Given the description of an element on the screen output the (x, y) to click on. 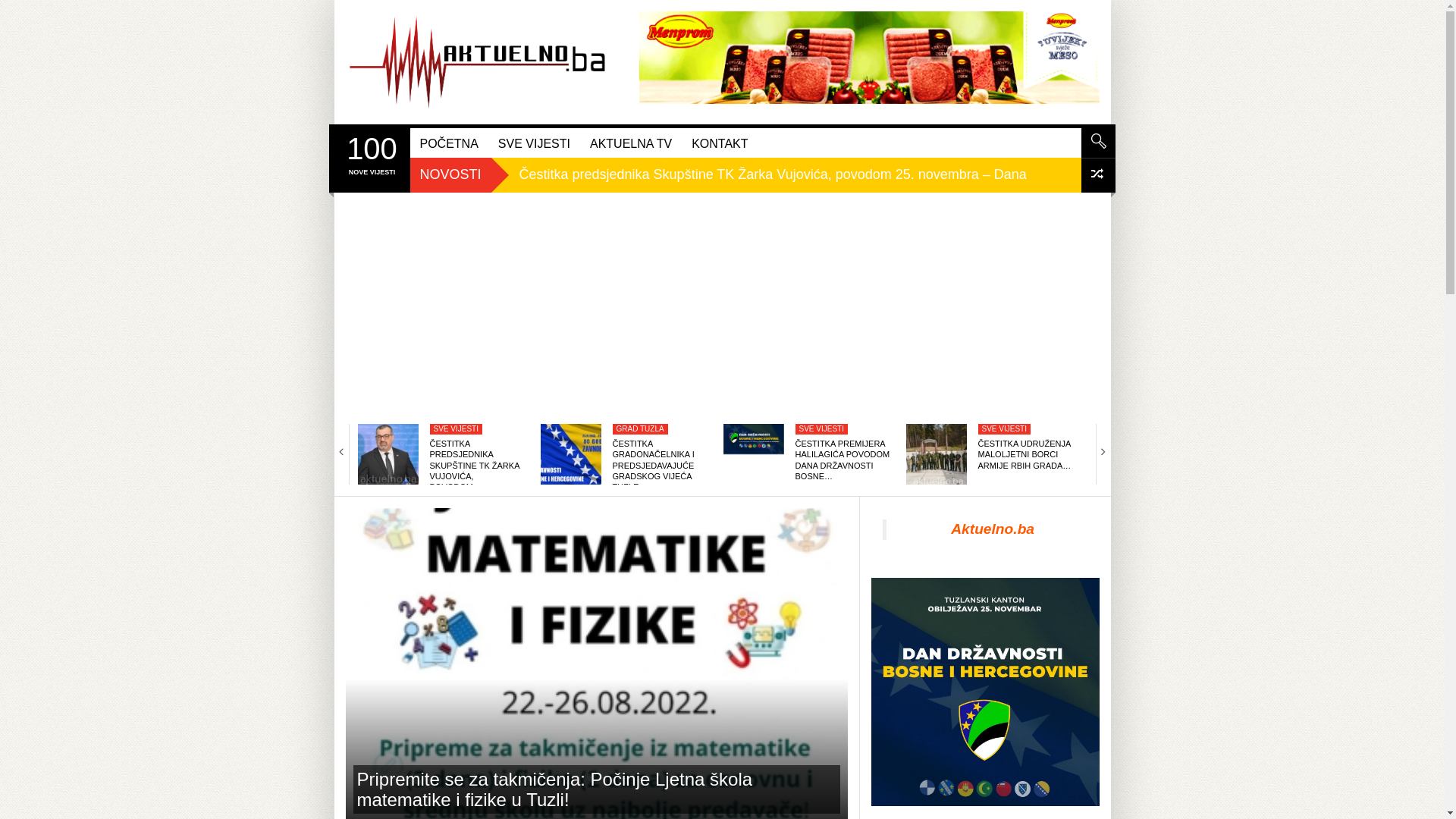
NOVOSTI Element type: text (450, 174)
Aktuelno.ba Element type: hover (477, 61)
100
NOVE VIJESTI Element type: text (371, 153)
SVE VIJESTI Element type: text (455, 428)
KONTAKT Element type: text (719, 142)
SVE VIJESTI Element type: text (1003, 428)
Advertisement Element type: hover (721, 306)
AKTUELNA TV Element type: text (630, 142)
Aktuelno.ba Element type: text (992, 528)
SVE VIJESTI Element type: text (534, 142)
GRAD TUZLA Element type: text (639, 428)
SVE VIJESTI Element type: text (821, 428)
